Given the description of an element on the screen output the (x, y) to click on. 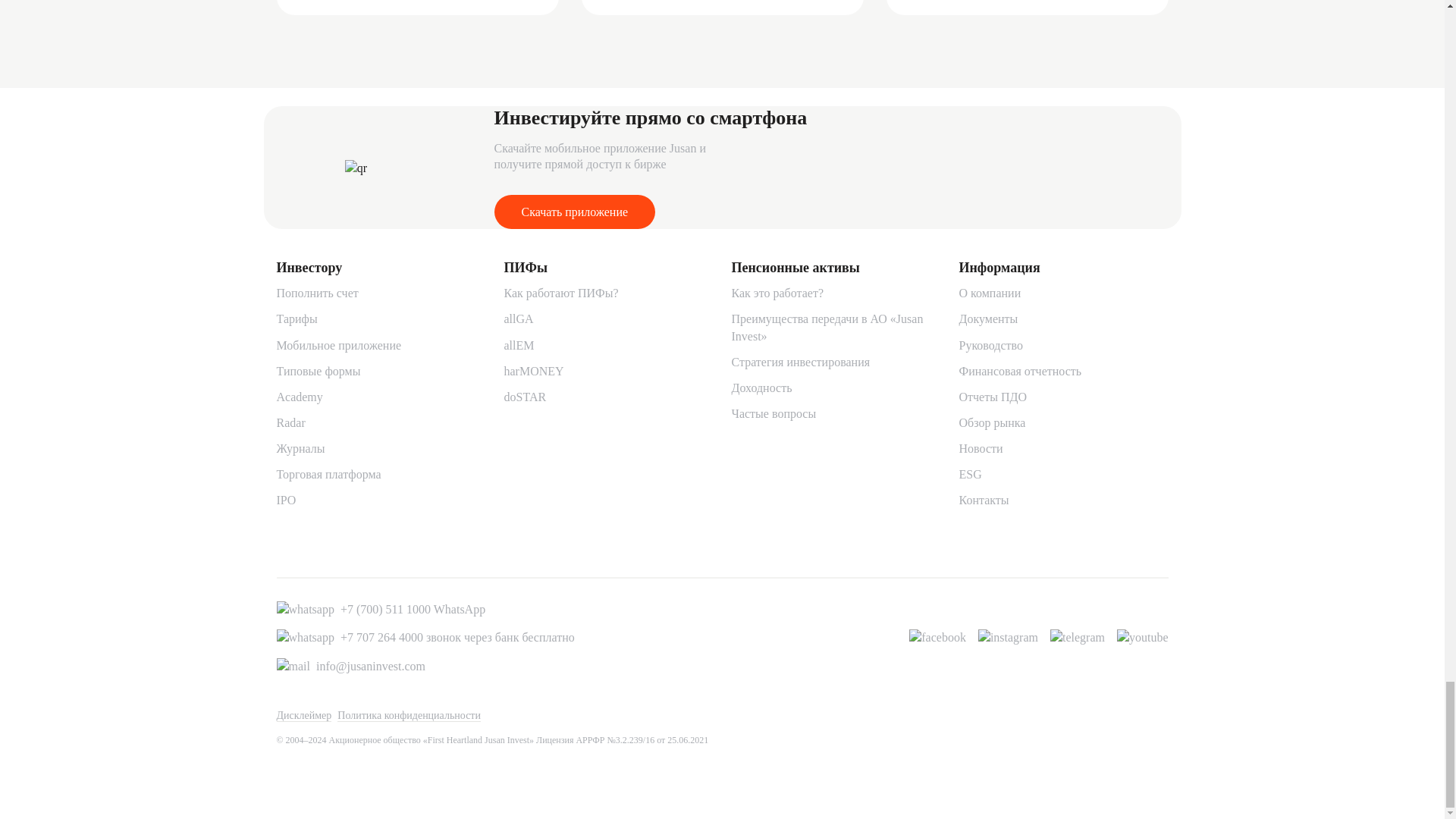
allGA (517, 318)
allEM (518, 345)
harMONEY (533, 370)
IPO (285, 499)
Academy (298, 396)
Radar (290, 422)
